Given the description of an element on the screen output the (x, y) to click on. 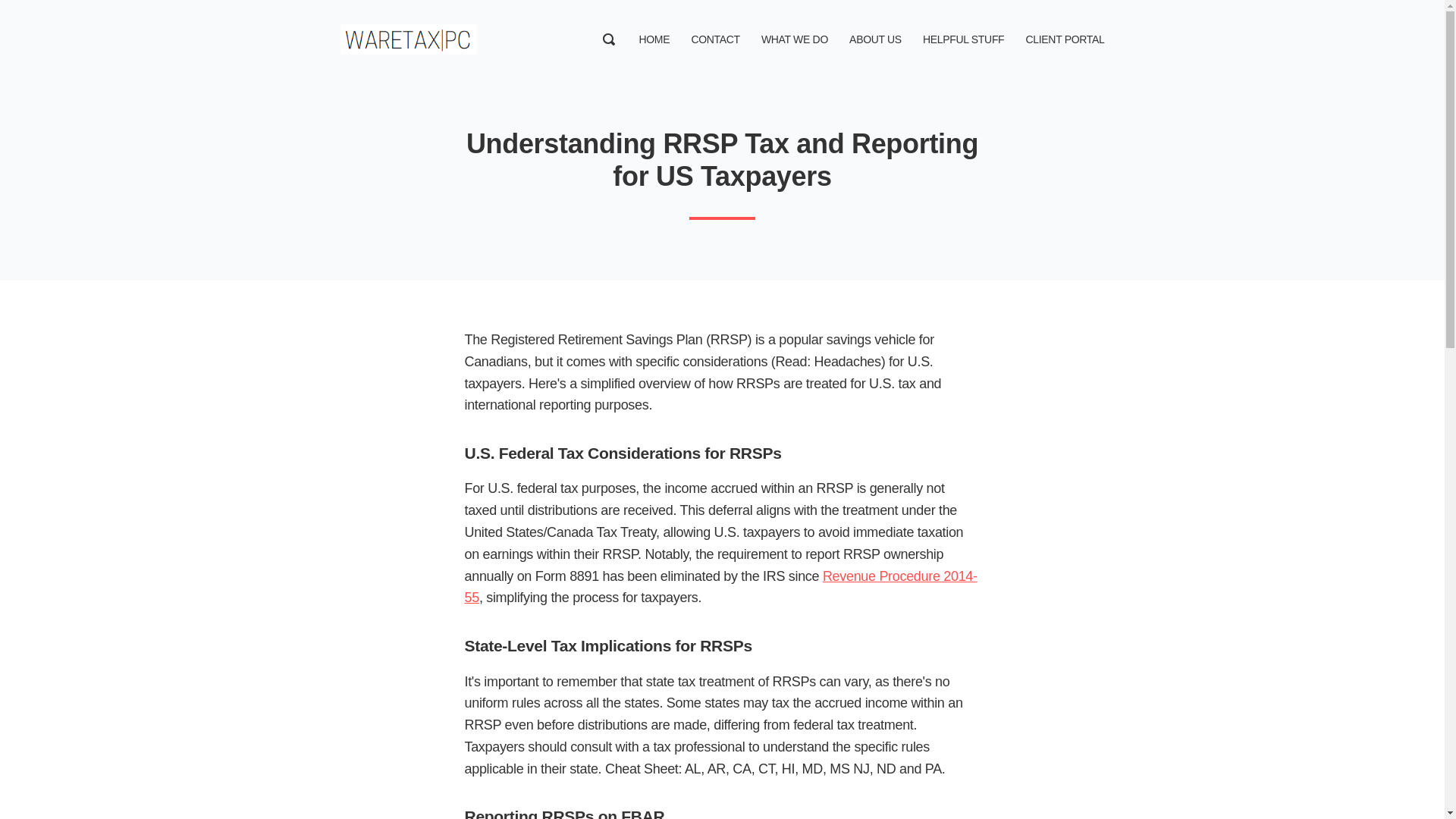
Revenue Procedure 2014-55 (720, 587)
CONTACT (714, 40)
HELPFUL STUFF (963, 40)
ABOUT US (874, 40)
CLIENT PORTAL (1064, 40)
HOME (654, 40)
WHAT WE DO (794, 40)
